Given the description of an element on the screen output the (x, y) to click on. 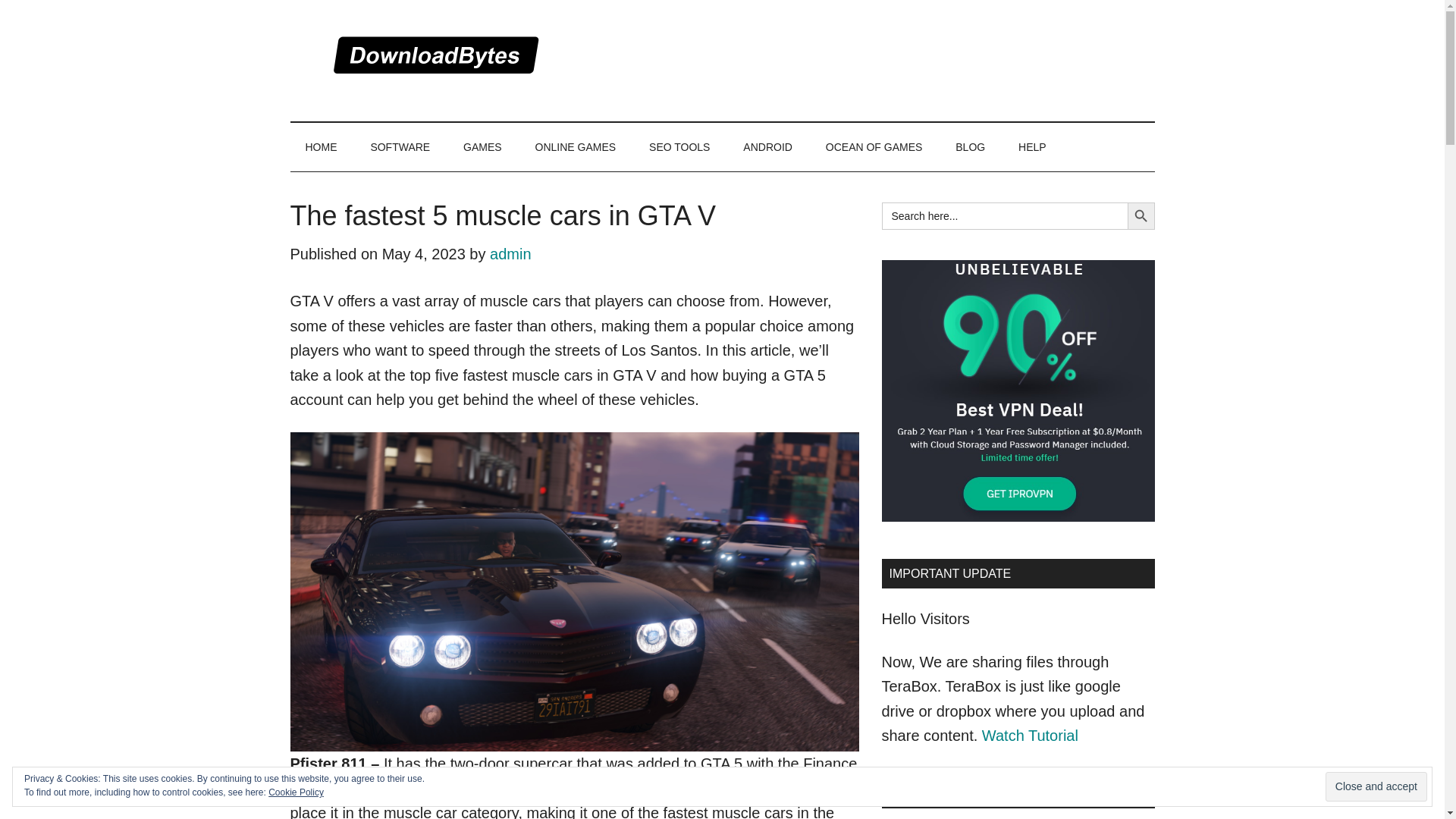
admin (510, 253)
ANDROID (768, 146)
SOFTWARE (400, 146)
Close and accept (1375, 786)
BLOG (970, 146)
SEO TOOLS (679, 146)
SEARCH BUTTON (1140, 215)
GAMES (482, 146)
OCEAN OF GAMES (873, 146)
